Given the description of an element on the screen output the (x, y) to click on. 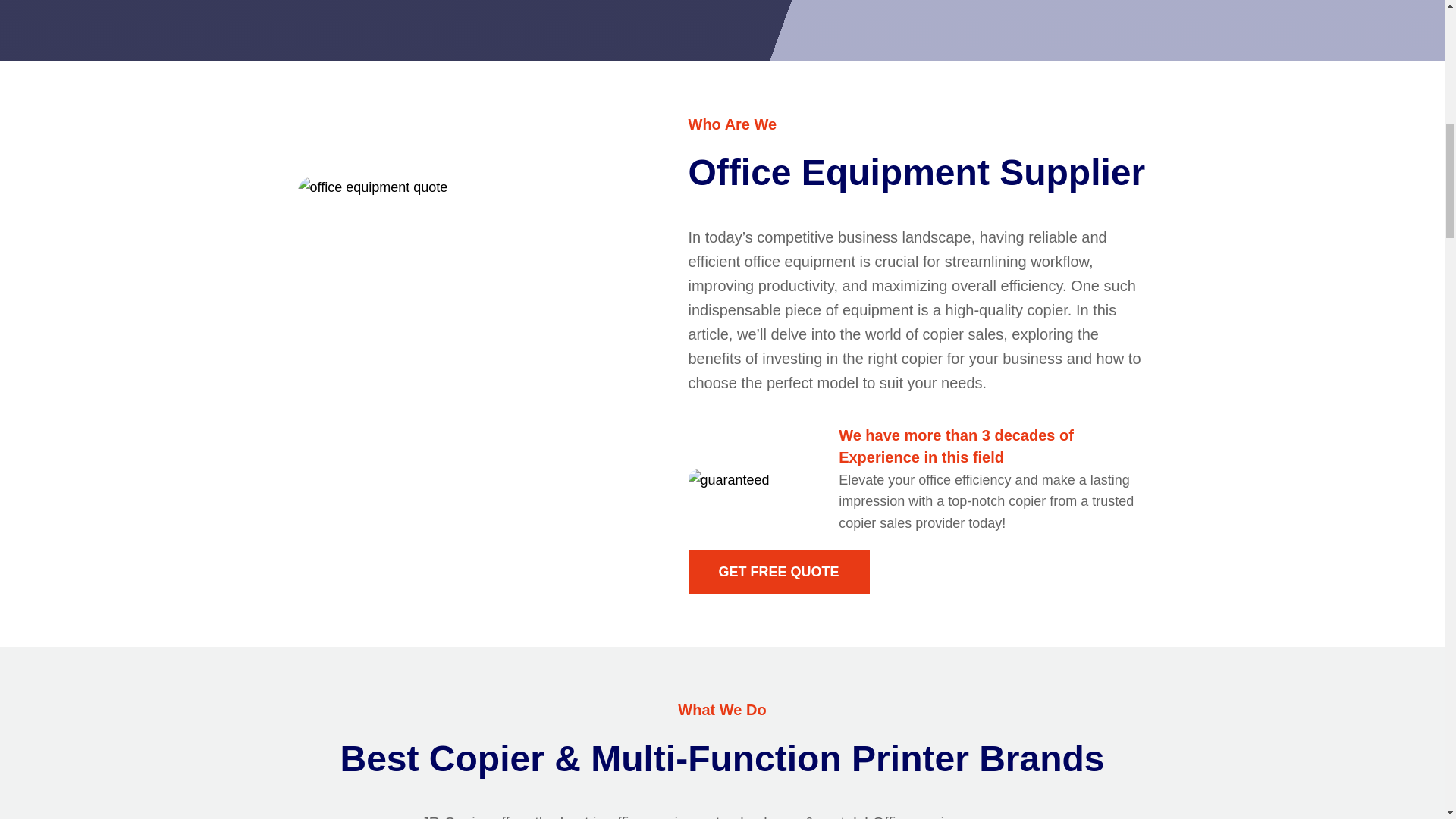
GET FREE QUOTE (778, 571)
